Given the description of an element on the screen output the (x, y) to click on. 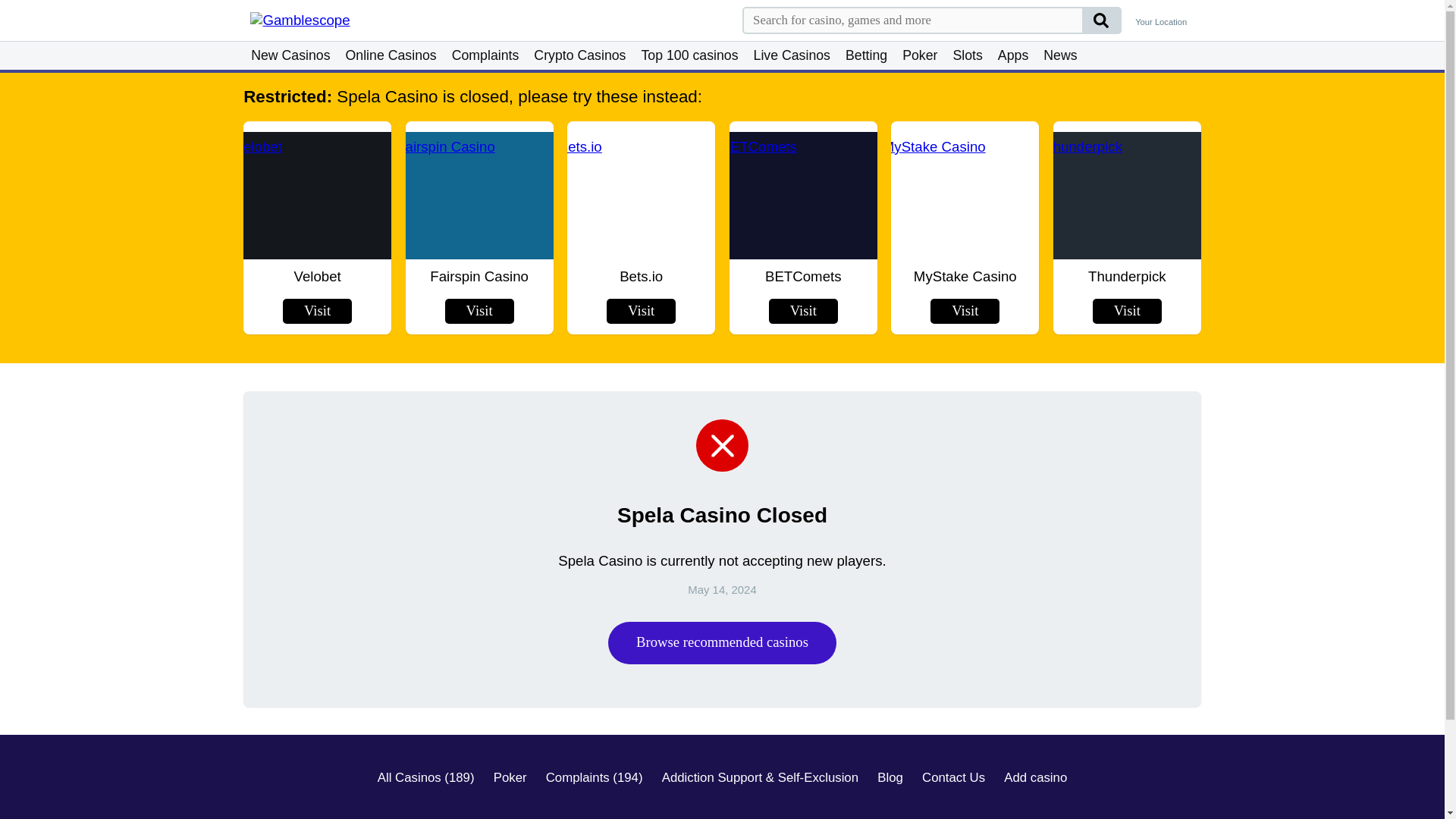
Bets.io (641, 195)
Gamblescope (329, 20)
Velobet (317, 195)
New Casinos (290, 55)
BETComets (802, 195)
Fairspin Casino (478, 195)
MyStake Casino (964, 195)
Online Casinos (390, 55)
Thunderpick (1126, 195)
